Given the description of an element on the screen output the (x, y) to click on. 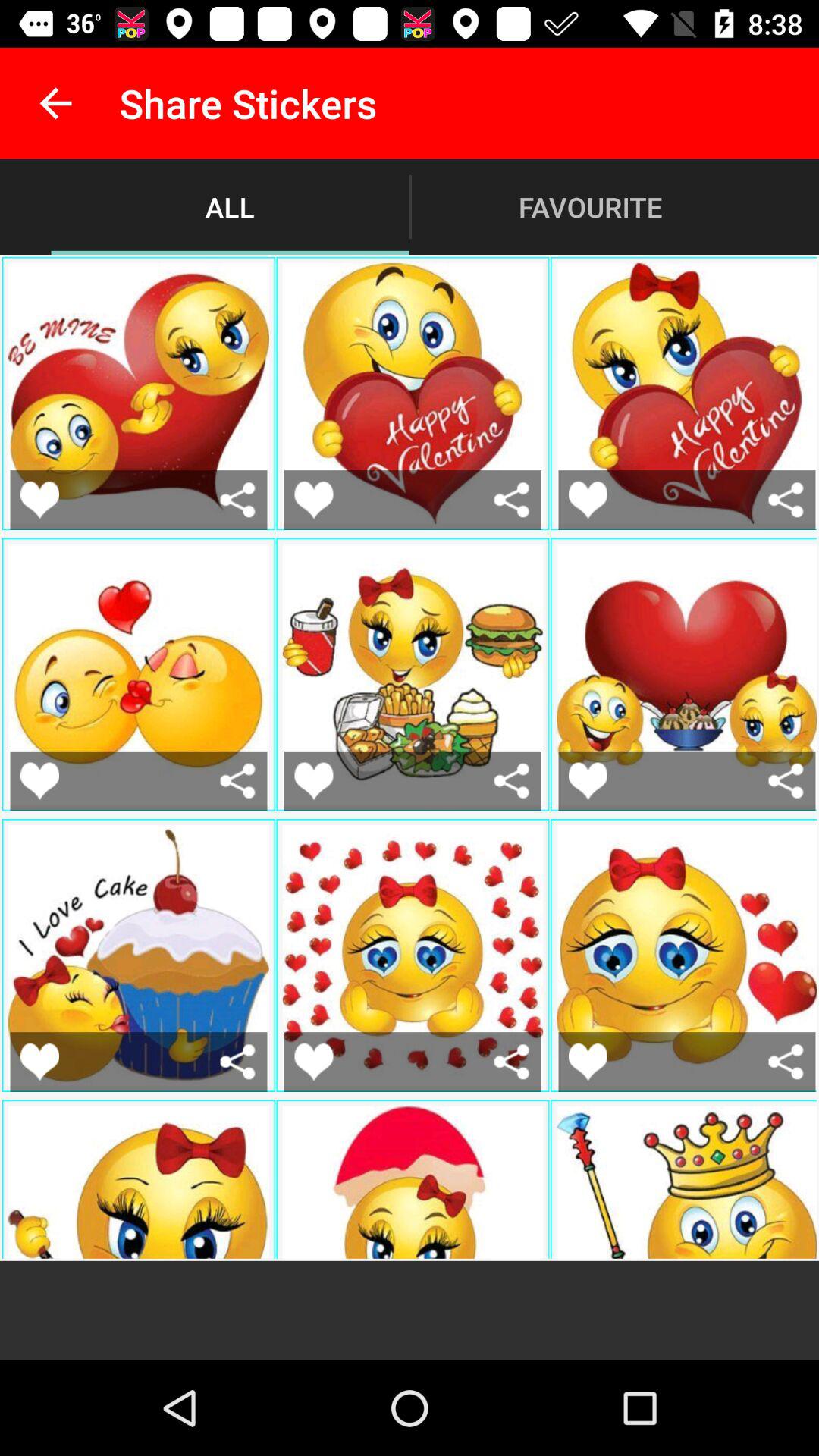
share stickers (237, 780)
